Given the description of an element on the screen output the (x, y) to click on. 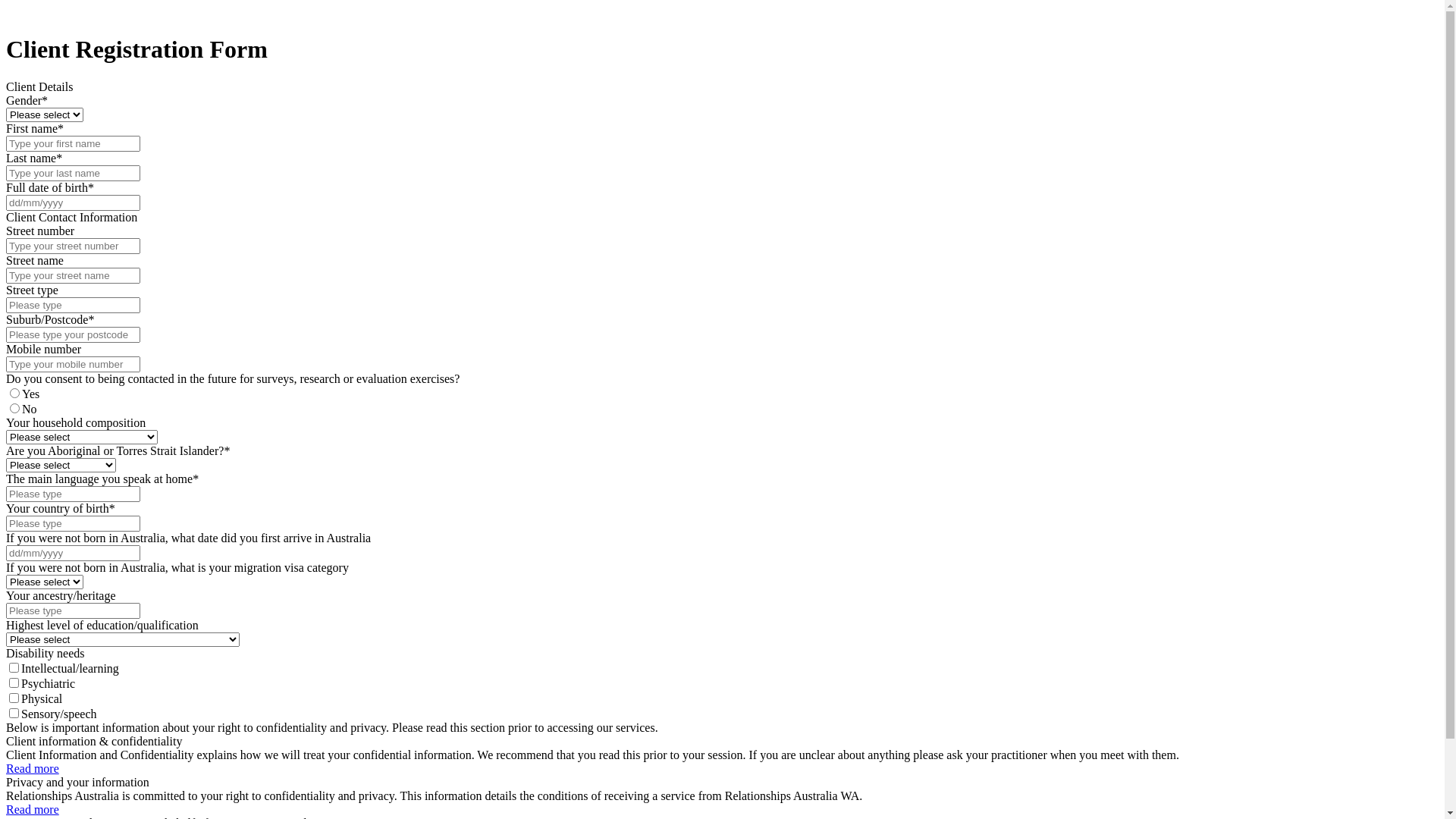
Read more Element type: text (32, 809)
Read more Element type: text (32, 768)
